Given the description of an element on the screen output the (x, y) to click on. 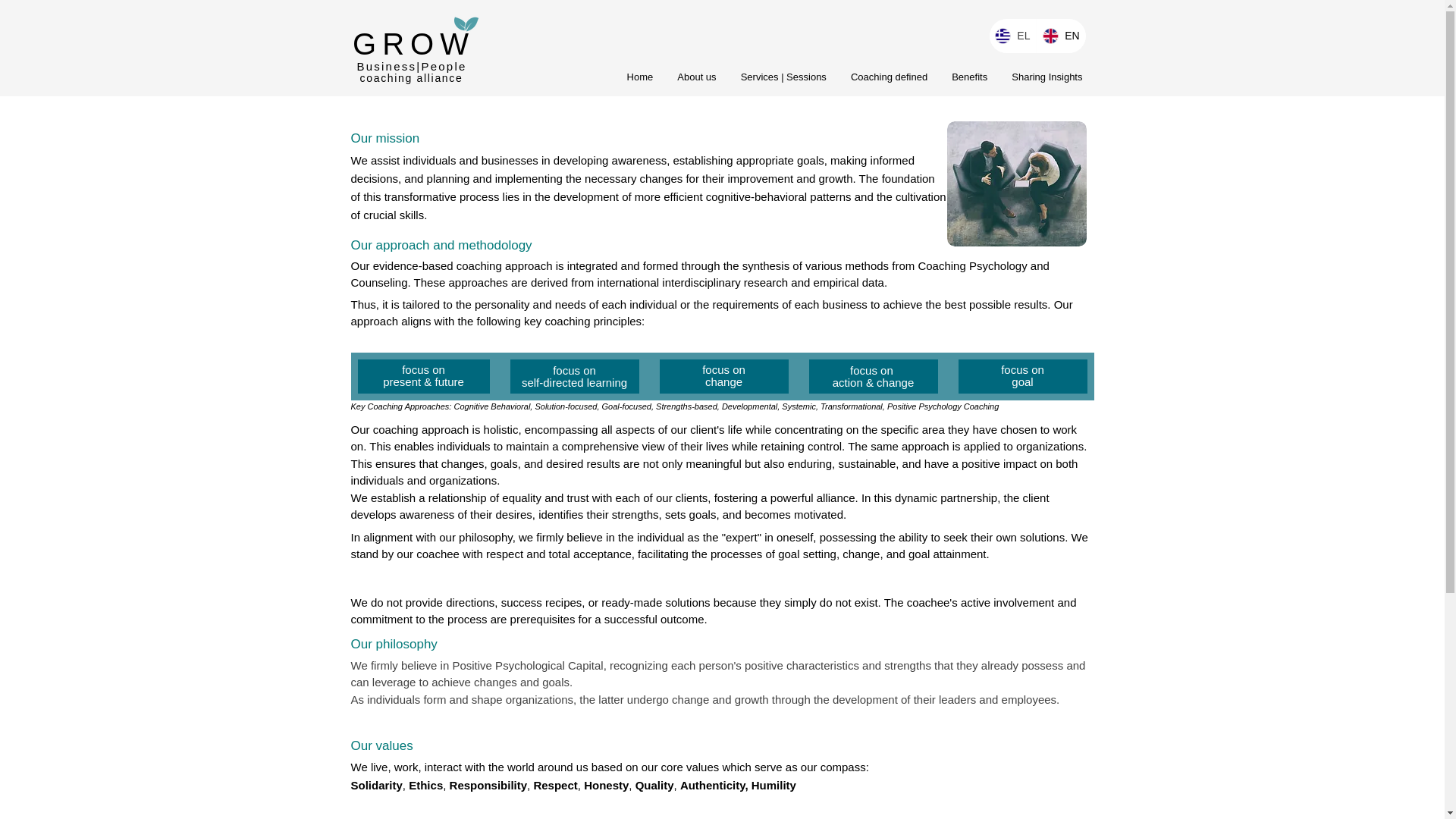
Sharing Insights (1046, 76)
GRO (395, 43)
Home (639, 76)
EL (1011, 35)
Benefits (968, 76)
Coaching defined (888, 76)
EN (1059, 35)
